Given the description of an element on the screen output the (x, y) to click on. 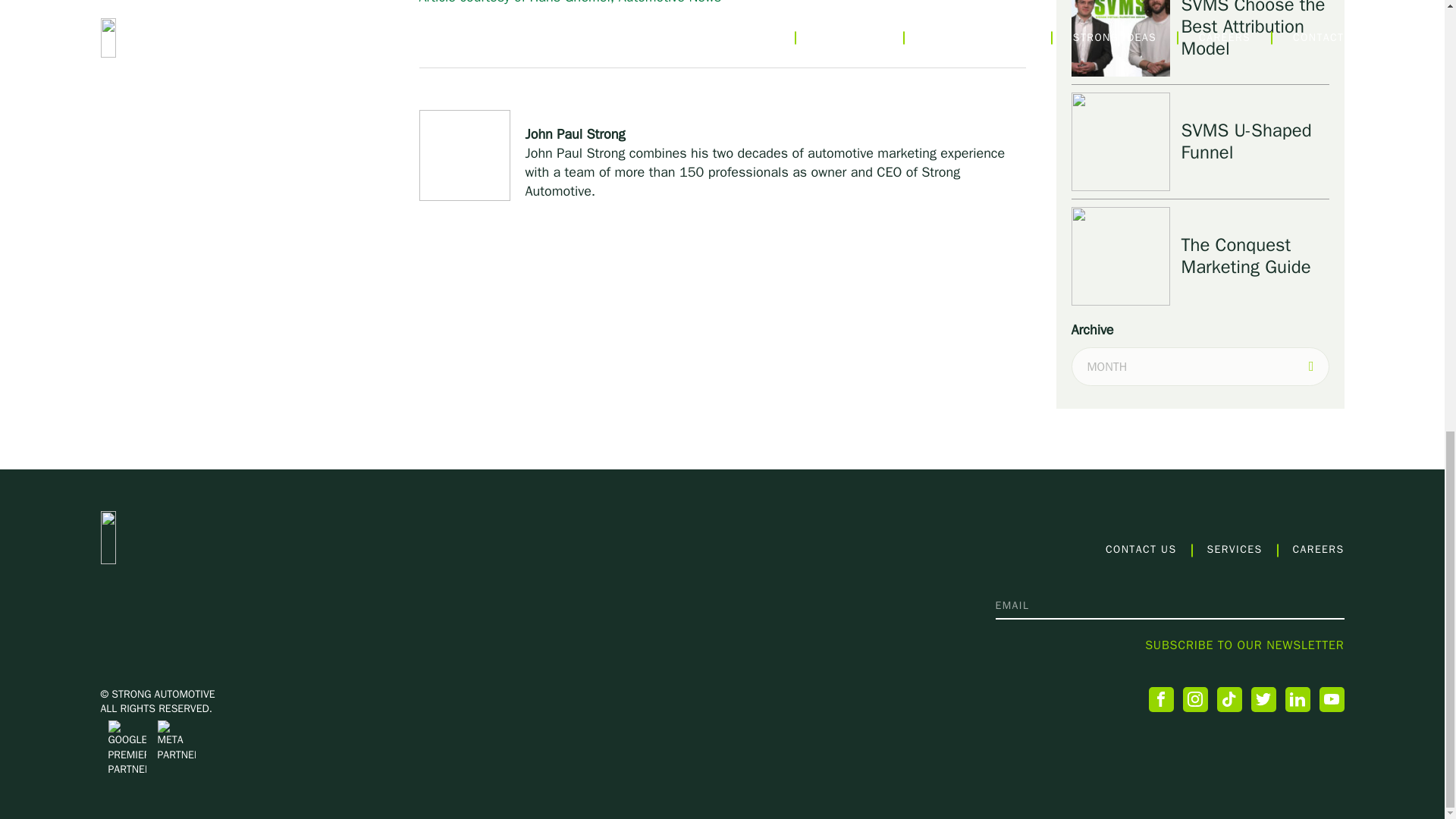
LinkedIn (1296, 699)
Instagram (1195, 699)
Facebook (1160, 699)
TikTok (1228, 699)
Strong Automotive (204, 537)
Meta Partner (176, 741)
Hans Griemel, Automotive News (569, 2)
Youtube (1331, 699)
Twitter (1263, 699)
